Given the description of an element on the screen output the (x, y) to click on. 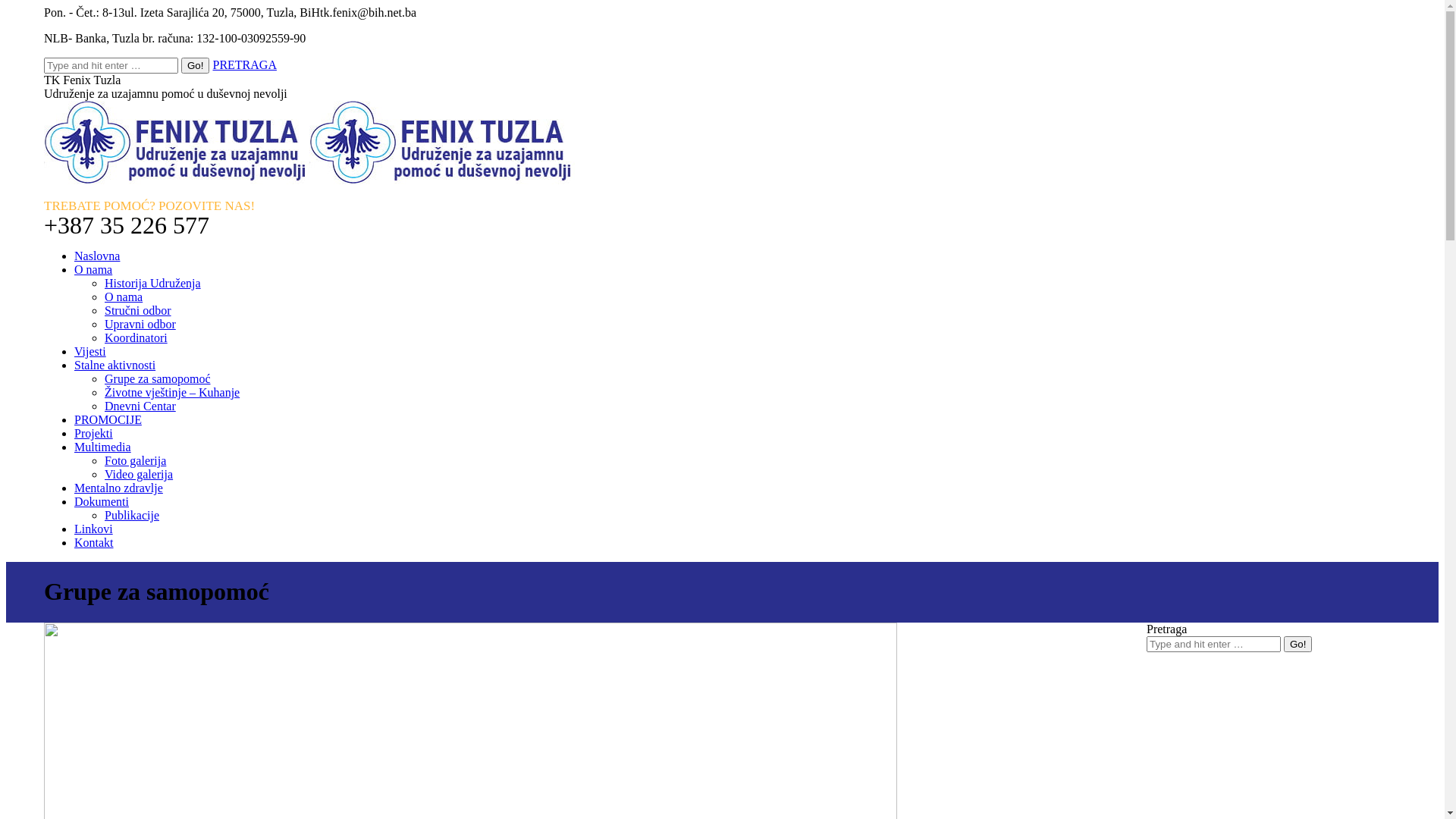
O nama Element type: text (123, 296)
Skip to content Element type: text (5, 5)
Mentalno zdravlje Element type: text (118, 487)
O nama Element type: text (93, 269)
Foto galerija Element type: text (135, 460)
Multimedia Element type: text (102, 446)
PRETRAGA Element type: text (244, 64)
Video galerija Element type: text (138, 473)
Stalne aktivnosti Element type: text (114, 364)
Naslovna Element type: text (96, 255)
Dokumenti Element type: text (101, 501)
Dnevni Centar Element type: text (139, 405)
Upravni odbor Element type: text (139, 323)
Go! Element type: text (1297, 644)
Vijesti Element type: text (90, 351)
Go! Element type: text (195, 65)
Projekti Element type: text (93, 432)
PROMOCIJE Element type: text (107, 419)
Publikacije Element type: text (131, 514)
Kontakt Element type: text (93, 542)
Linkovi Element type: text (93, 528)
Koordinatori Element type: text (135, 337)
